Given the description of an element on the screen output the (x, y) to click on. 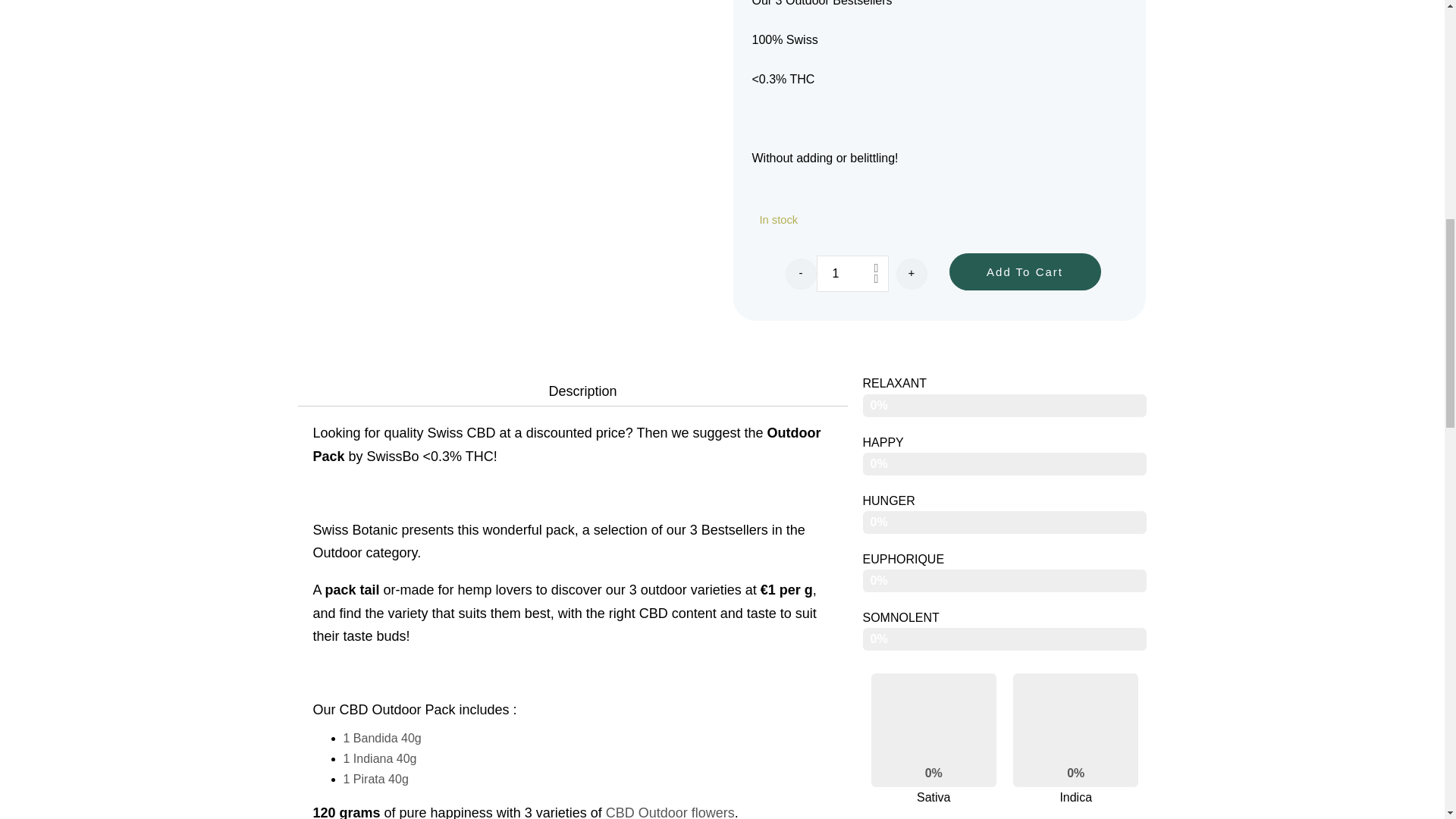
1 (851, 273)
Qty (851, 273)
